Given the description of an element on the screen output the (x, y) to click on. 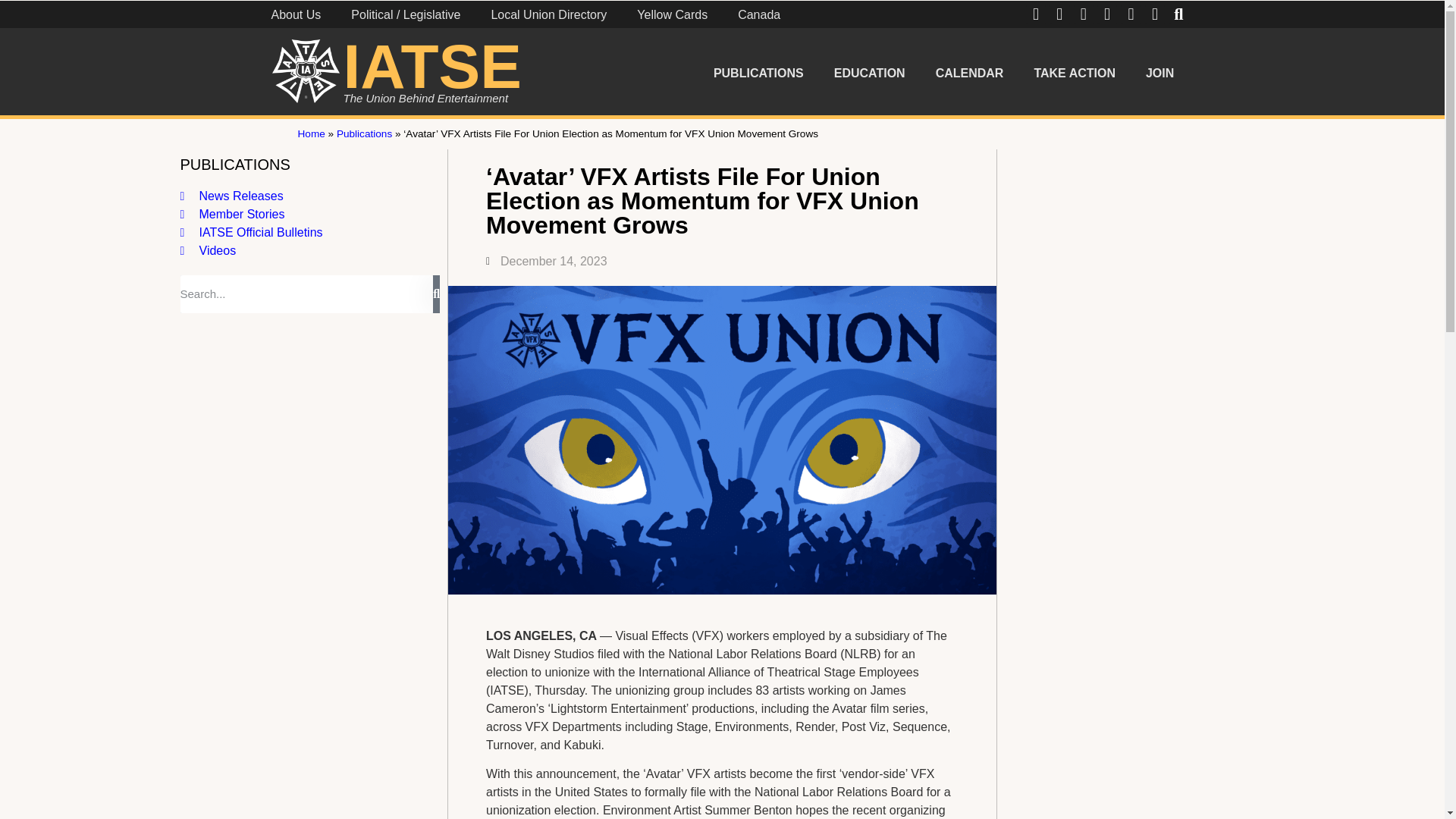
PUBLICATIONS (758, 73)
TAKE ACTION (1074, 73)
JOIN (1160, 73)
About Us (296, 16)
EDUCATION (869, 73)
Search (306, 293)
Yellow Cards (671, 16)
Canada (758, 16)
CALENDAR (969, 73)
Local Union Directory (548, 16)
